Given the description of an element on the screen output the (x, y) to click on. 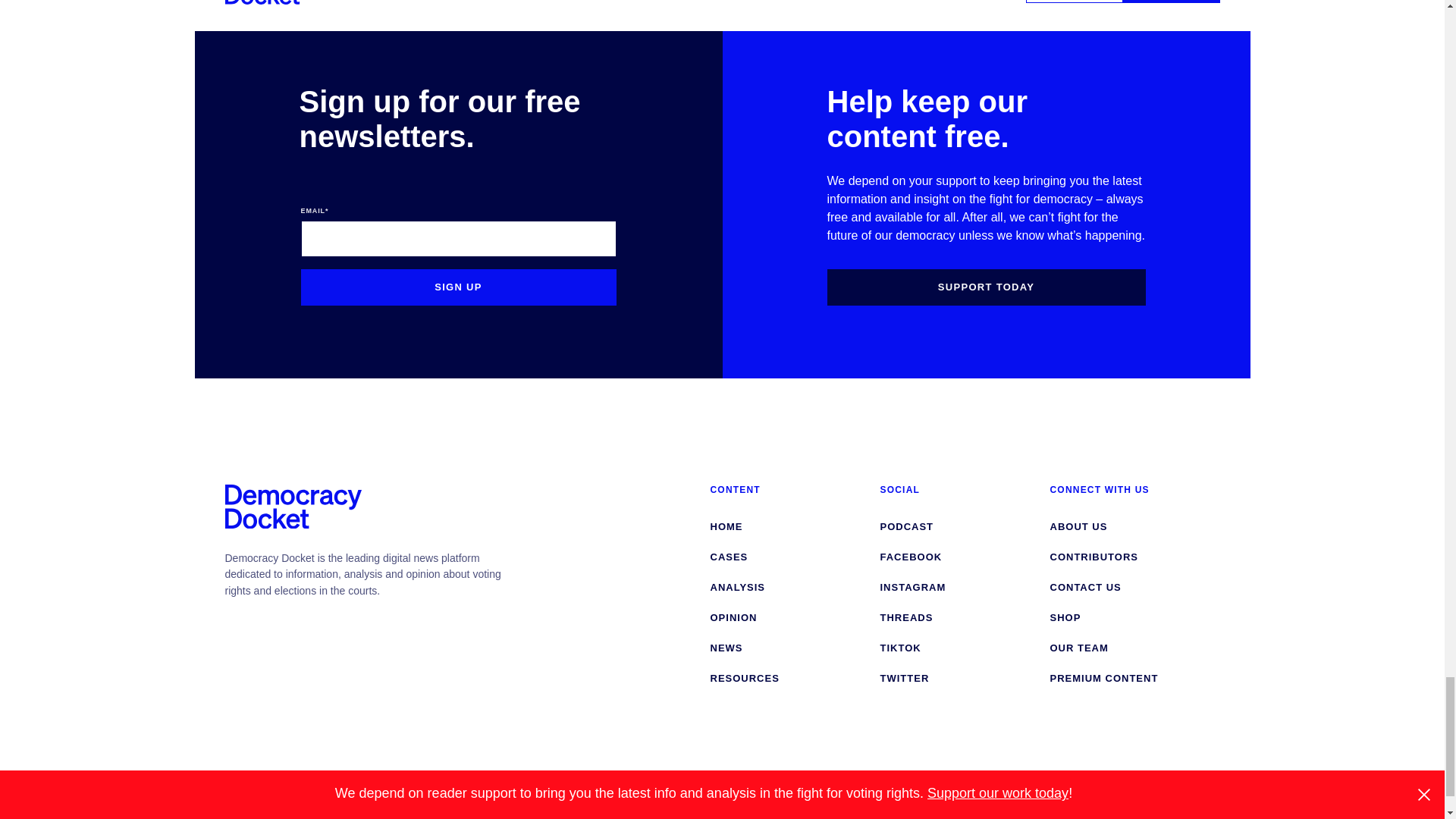
Sign Up (457, 287)
